Given the description of an element on the screen output the (x, y) to click on. 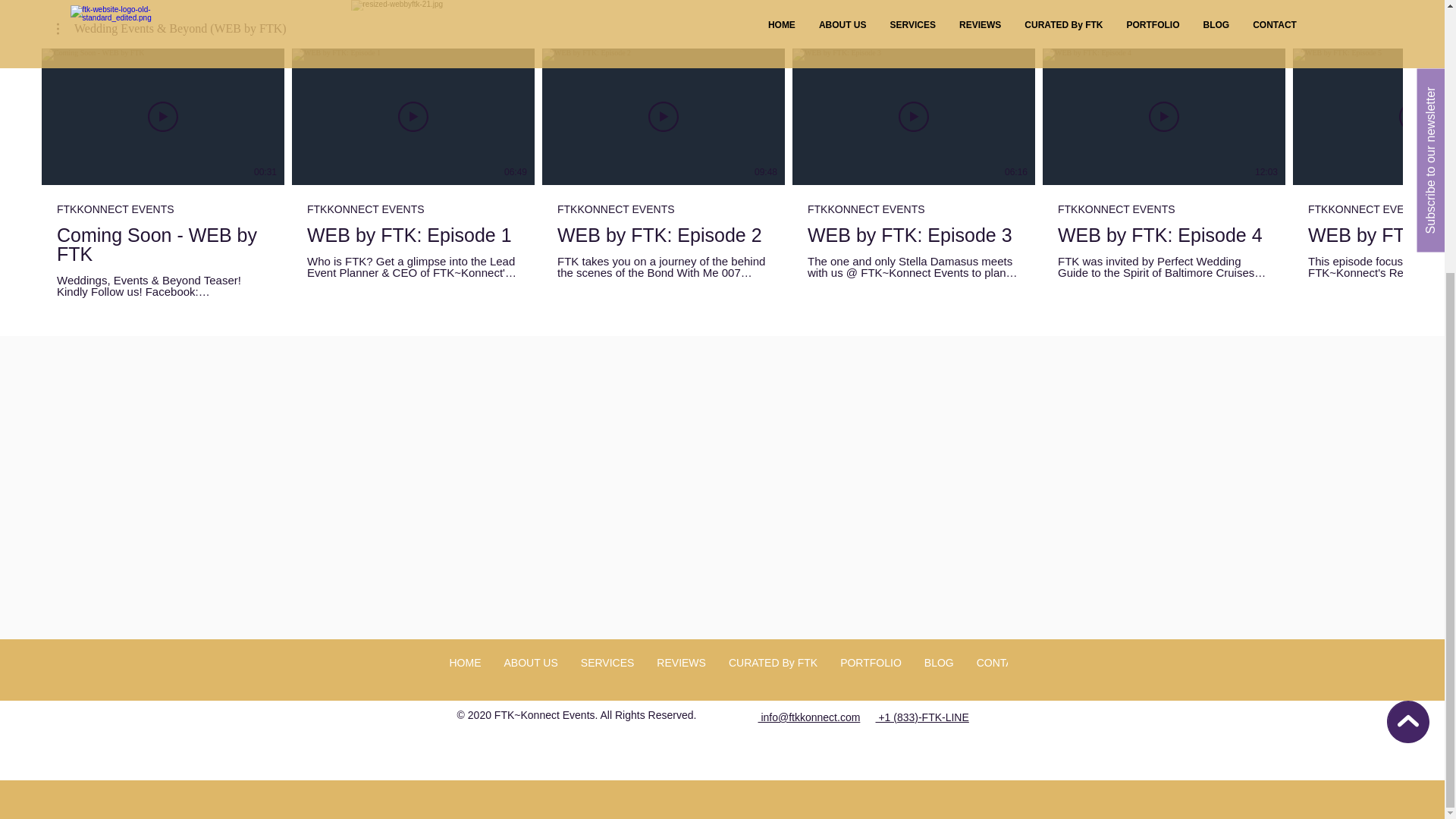
WEB by FTK: Episode 1 (413, 234)
HOME (465, 674)
ABOUT US (531, 674)
WEB by FTK: Episode 3 (914, 234)
WEB by FTK: Episode 2 (663, 234)
Coming Soon - WEB by FTK (162, 244)
WEB by FTK: Episode 4 (1163, 234)
